Given the description of an element on the screen output the (x, y) to click on. 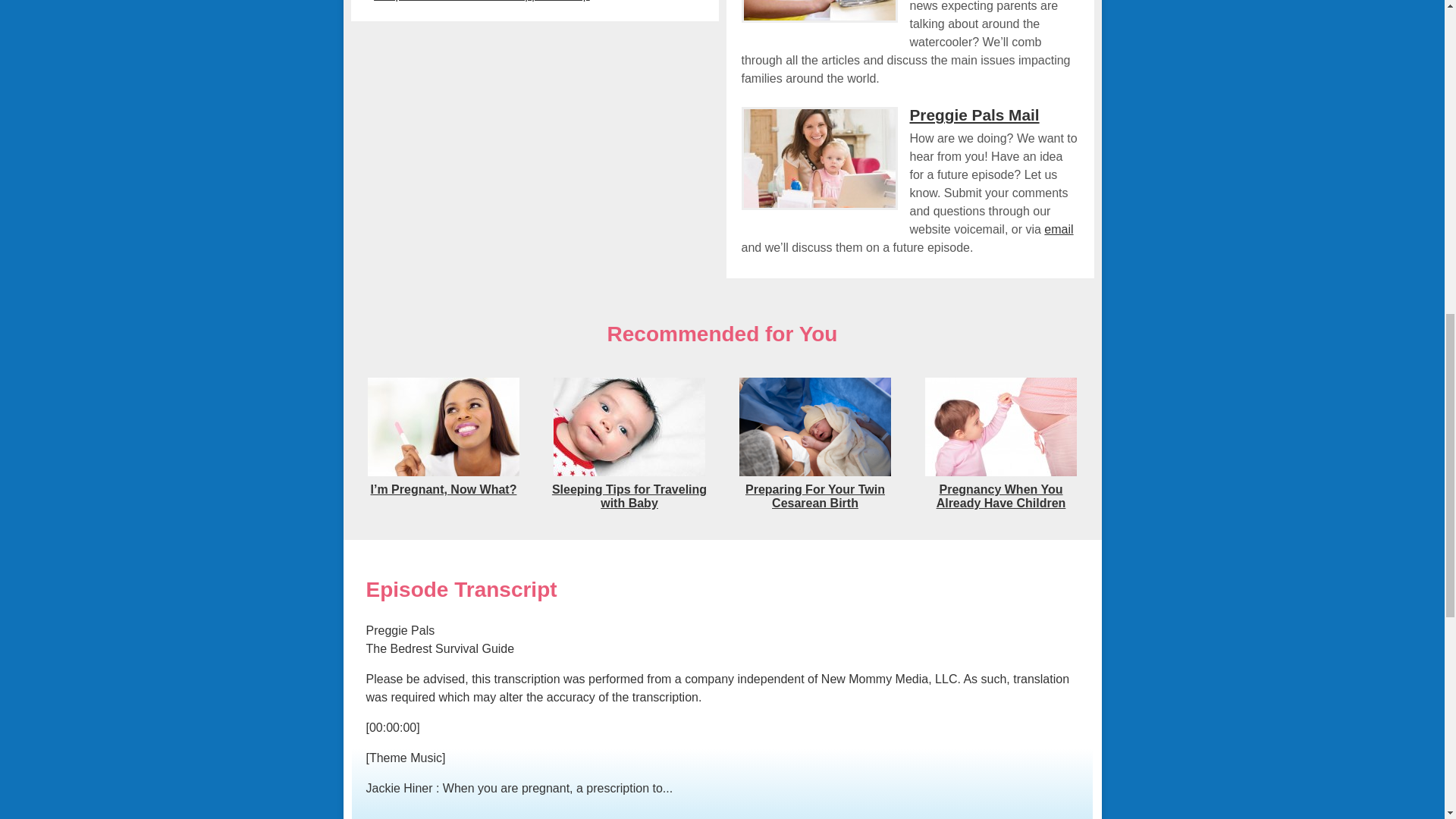
email (1058, 228)
Sleeping Tips for Traveling with Baby (628, 496)
Preggie Pals Mail (974, 114)
Pregnancy When You Already Have Children (1000, 472)
Pregnancy When You Already Have Children (1000, 496)
Preparing For Your Twin Cesarean Birth (815, 472)
Preparing For Your Twin Cesarean Birth (815, 496)
Sleeping Tips for Traveling with Baby (628, 496)
Sleeping Tips for Traveling with Baby (628, 472)
